Given the description of an element on the screen output the (x, y) to click on. 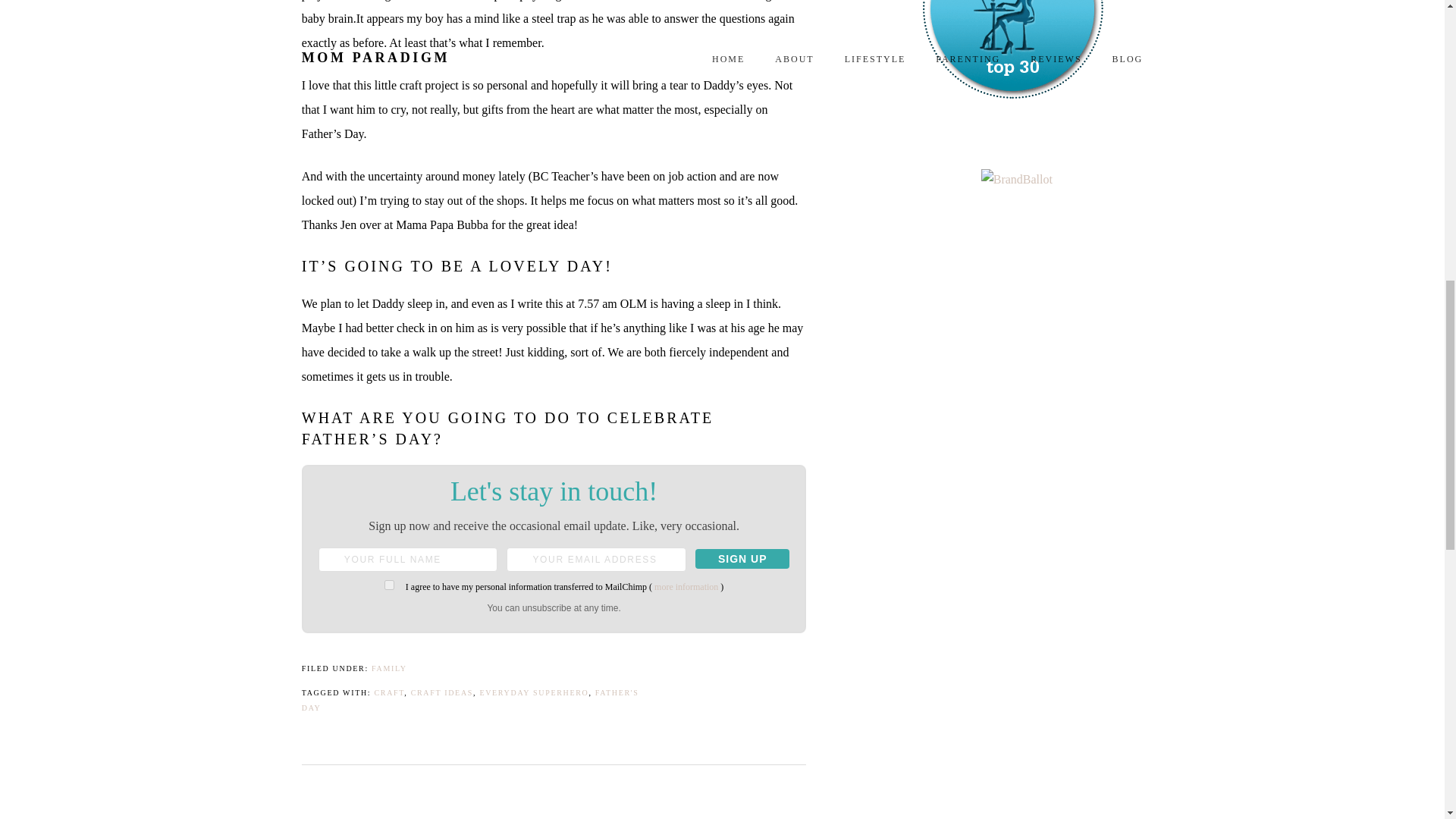
FATHER'S DAY (470, 699)
CRAFT IDEAS (441, 692)
FAMILY (389, 668)
SIGN UP (742, 558)
more information (685, 586)
on (389, 584)
EVERYDAY SUPERHERO (533, 692)
SIGN UP (742, 558)
CRAFT (389, 692)
